Given the description of an element on the screen output the (x, y) to click on. 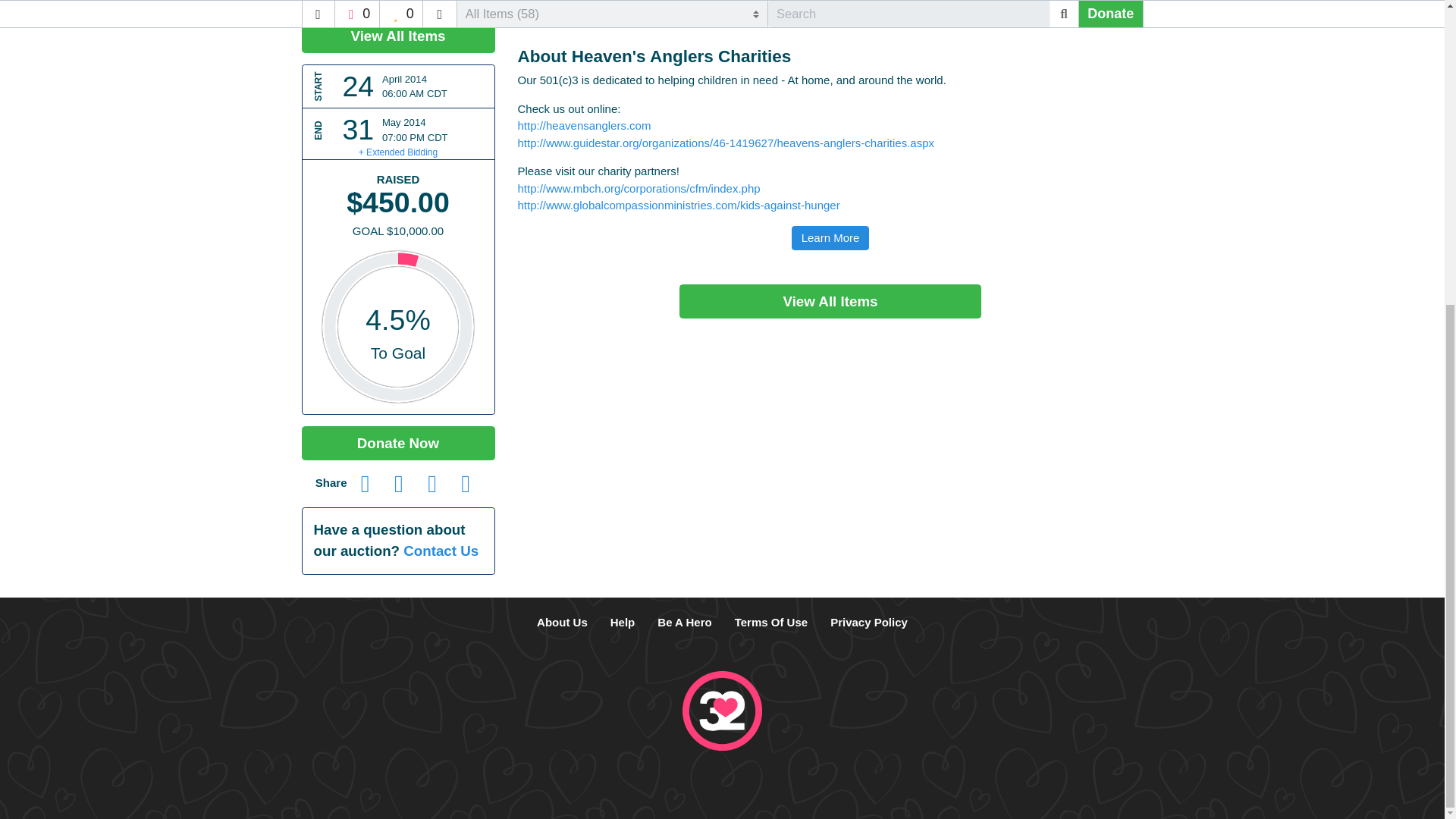
View All Items (398, 35)
Share by Email (431, 482)
Donate Now (398, 442)
How to Run a Silent Auction The Step-by-Step Guide (684, 623)
Share on Facebook (365, 482)
Share on Twitter (398, 482)
Learn More (829, 238)
View All Items (830, 301)
Help (622, 623)
About Us (561, 623)
Contact Us (441, 550)
Privacy Policy (868, 623)
Share QR Code (464, 482)
Be A Hero (684, 623)
Terms Of Use (770, 623)
